Given the description of an element on the screen output the (x, y) to click on. 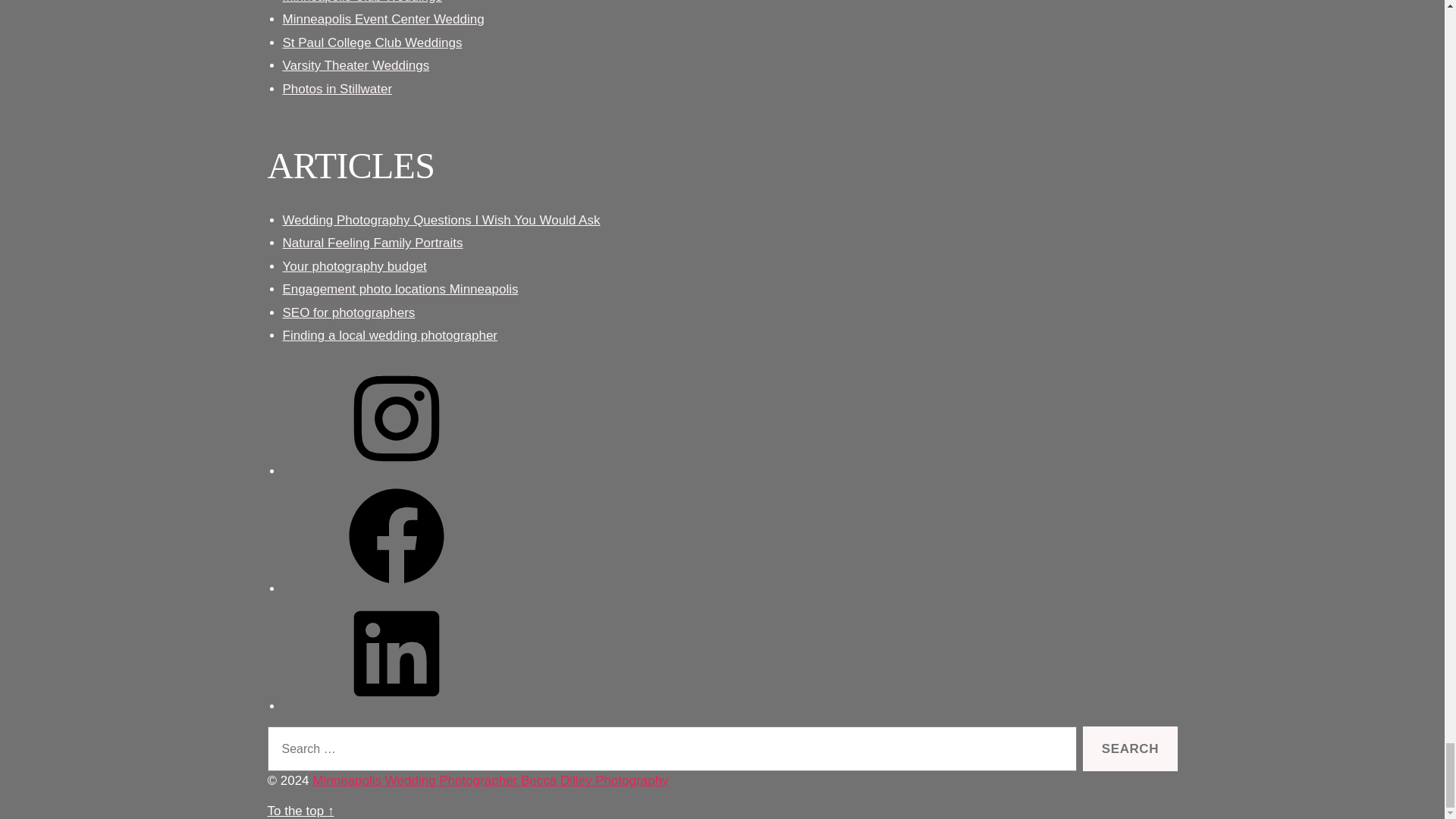
Search (1129, 748)
Search (1129, 748)
